Given the description of an element on the screen output the (x, y) to click on. 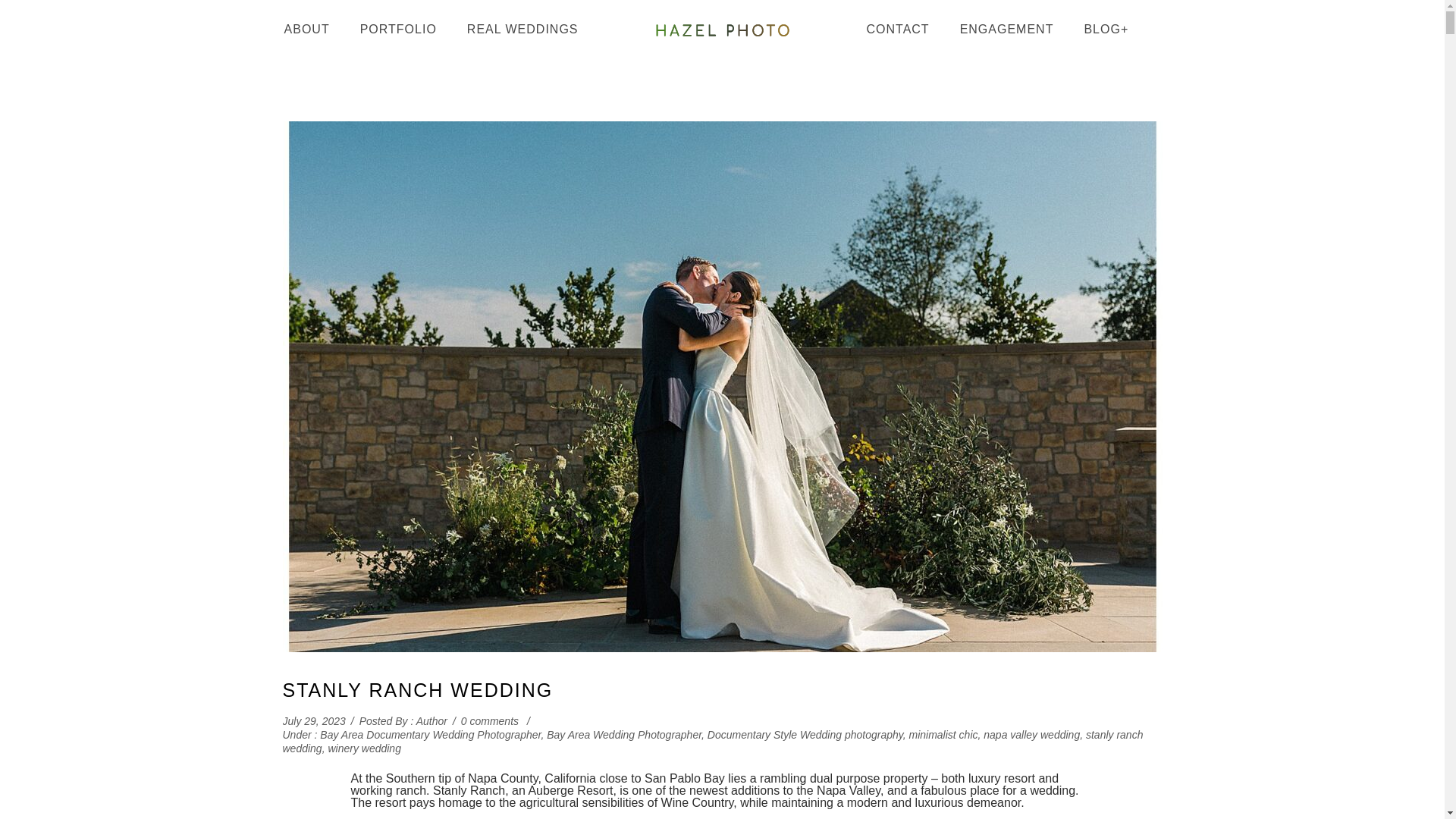
Bay Area Documentary Wedding Photographer (430, 734)
0 comments (489, 720)
Documentary Style Wedding photography (804, 734)
REAL WEDDINGS (522, 29)
Engagement (1006, 29)
Bay Area Wedding Photographer (624, 734)
stanly ranch wedding (712, 741)
CONTACT (896, 29)
winery wedding (364, 748)
PORTFOLIO (398, 29)
